Given the description of an element on the screen output the (x, y) to click on. 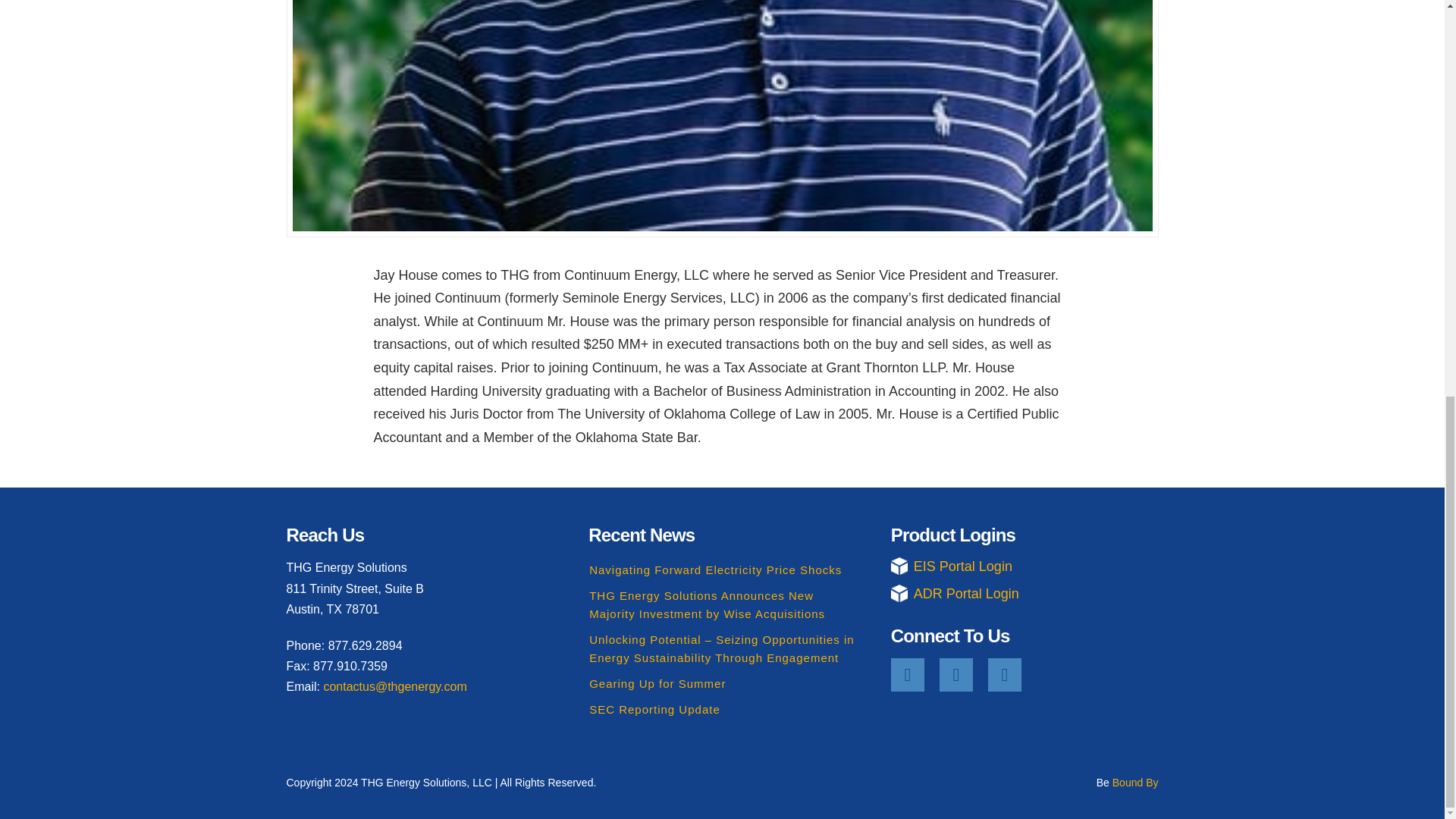
SEC Reporting Update (654, 708)
Twitter (955, 674)
Facebook (907, 674)
Bound By (1135, 782)
Navigating Forward Electricity Price Shocks (715, 569)
EIS Portal Login (1024, 566)
ADR Portal Login (1024, 592)
LinkedIn (1005, 674)
Gearing Up for Summer (657, 683)
